Given the description of an element on the screen output the (x, y) to click on. 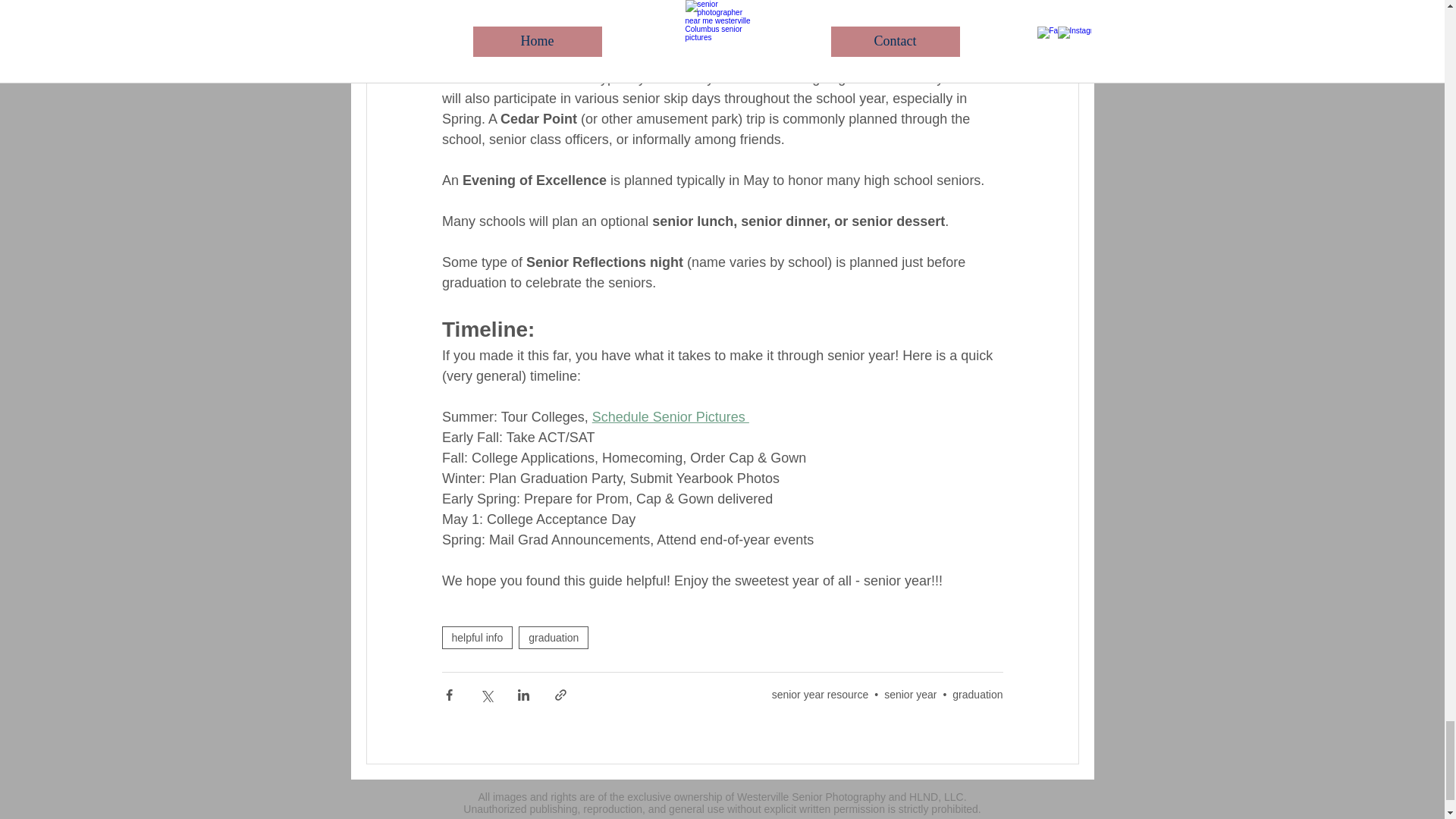
senior year (909, 694)
graduation (977, 694)
senior year resource (820, 694)
helpful info (476, 637)
Schedule Senior Pictures  (669, 417)
graduation (553, 637)
